Given the description of an element on the screen output the (x, y) to click on. 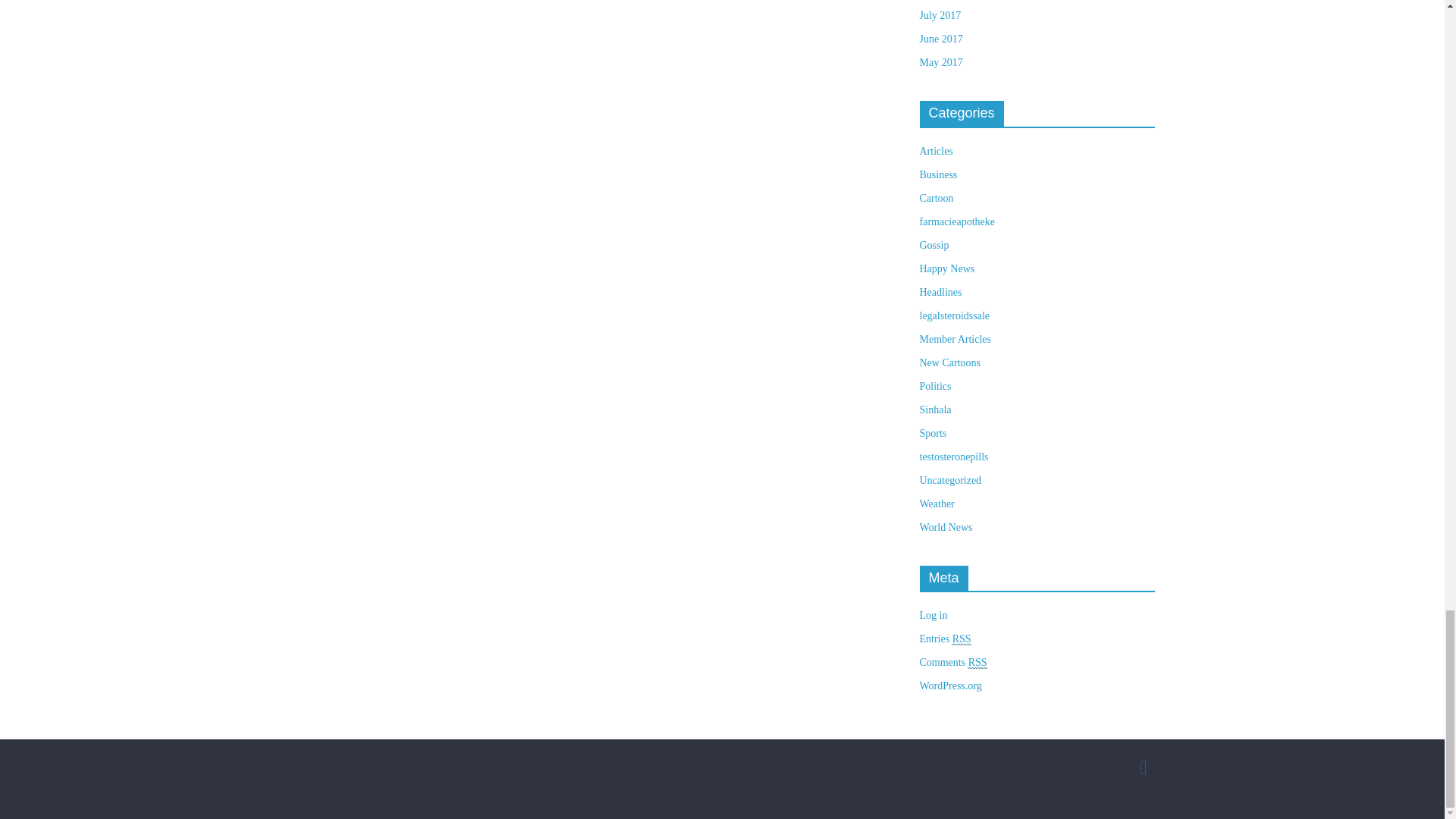
Really Simple Syndication (961, 639)
Really Simple Syndication (977, 662)
